Given the description of an element on the screen output the (x, y) to click on. 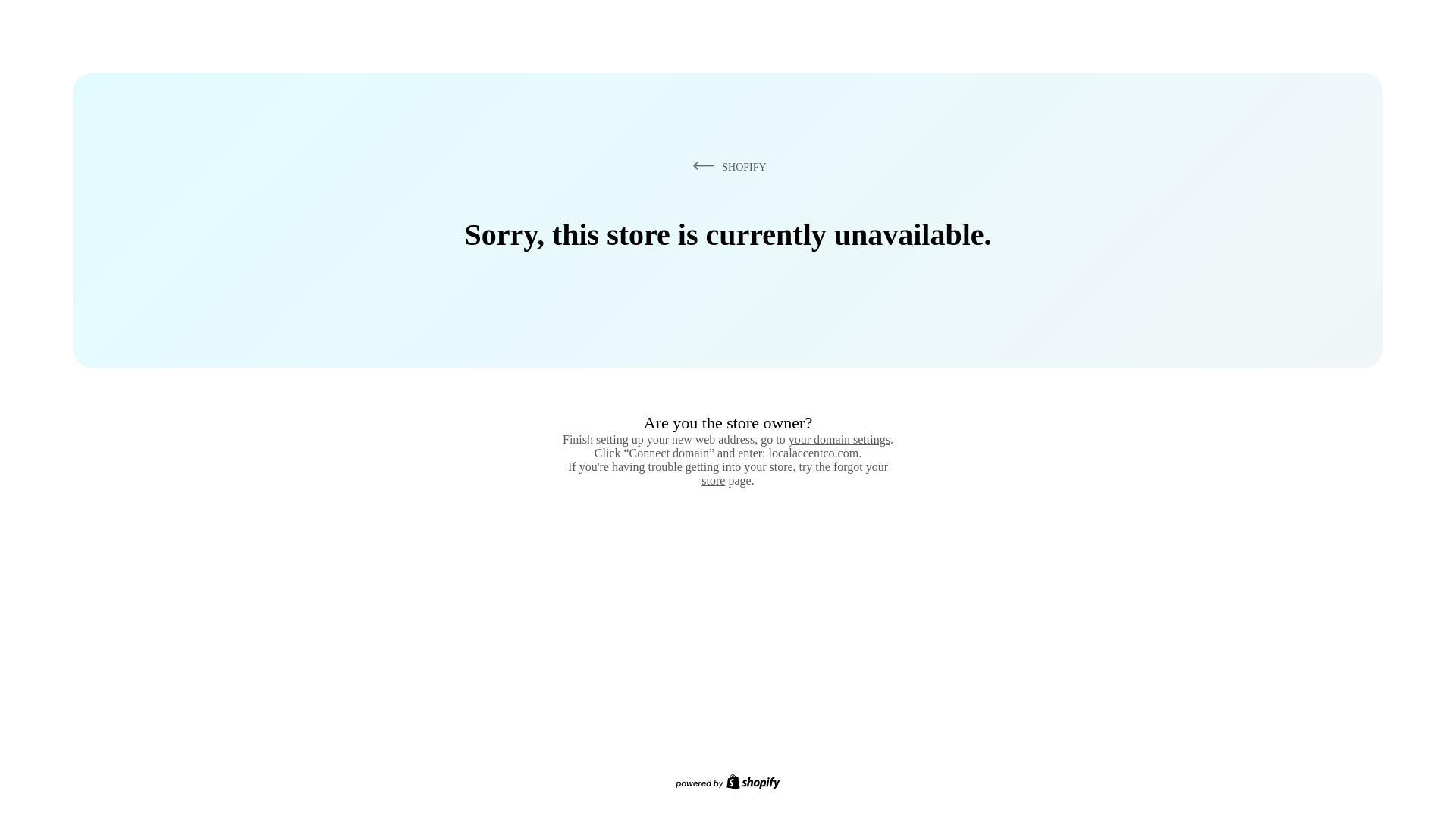
SHOPIFY (726, 166)
your domain settings (839, 439)
forgot your store (794, 473)
